Given the description of an element on the screen output the (x, y) to click on. 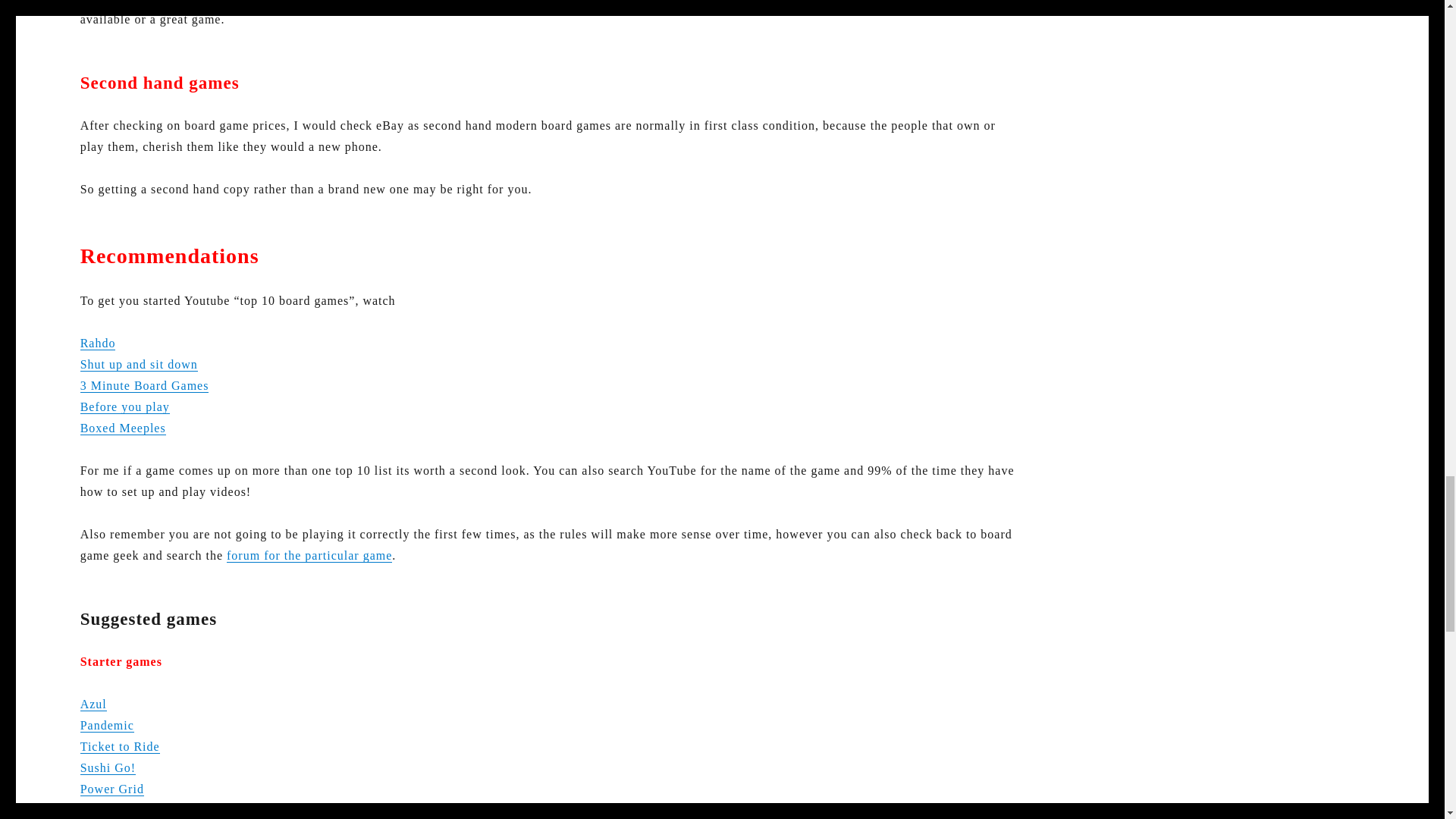
Pandemic (106, 725)
Shut up and sit down (139, 364)
forum for the particular game (309, 554)
Boxed Meeples (122, 427)
Azul (93, 703)
Power Grid (112, 788)
3 Minute Board Games (144, 385)
Rahdo (98, 342)
Sushi Go! (107, 767)
Before you play (125, 406)
Jaipur (97, 809)
Ticket to Ride (120, 746)
